Given the description of an element on the screen output the (x, y) to click on. 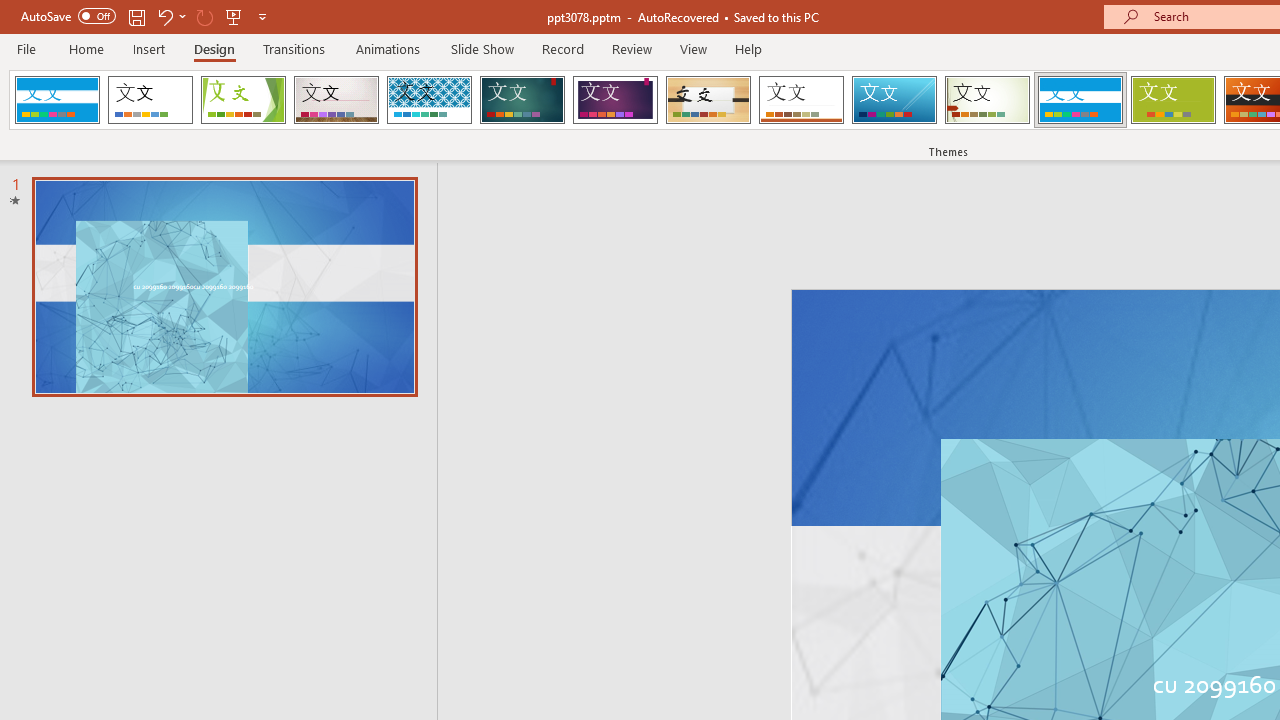
Wisp (987, 100)
Slice (893, 100)
Ion Boardroom (615, 100)
Integral (429, 100)
Organic (708, 100)
Basis (1172, 100)
